Given the description of an element on the screen output the (x, y) to click on. 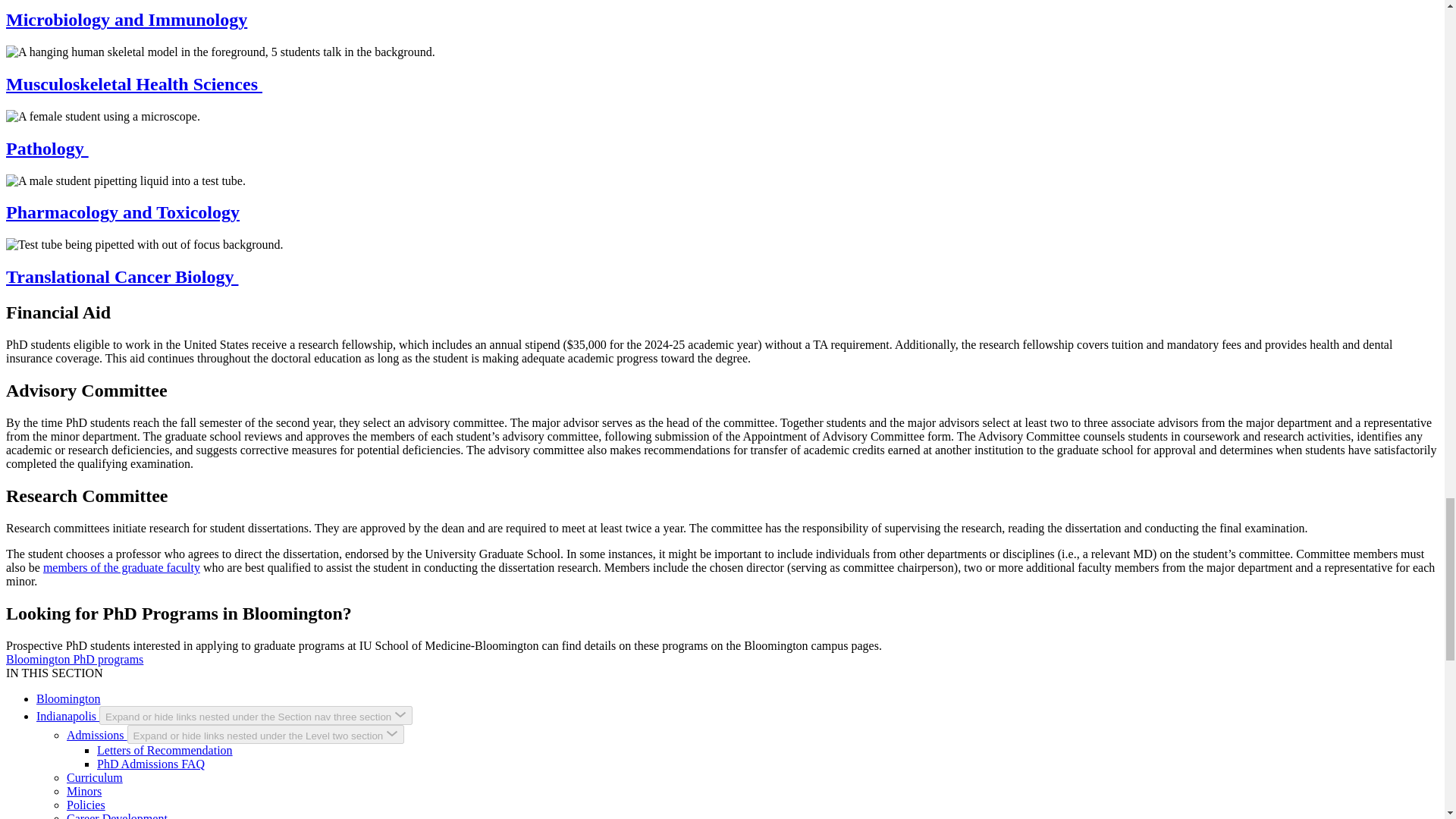
Policies (85, 804)
Bloomington PhD programs (73, 658)
Curriculum (94, 777)
Bloomington (68, 698)
Microbiology and Immunology (126, 19)
Translational Cancer Biology  (121, 276)
Letters of Recommendation (164, 749)
Musculoskeletal Health Sciences  (133, 84)
Indianapolis (67, 716)
members of the graduate faculty (121, 567)
Pathology  (46, 148)
Career Development (116, 815)
Admissions (97, 735)
Minors (83, 790)
